Given the description of an element on the screen output the (x, y) to click on. 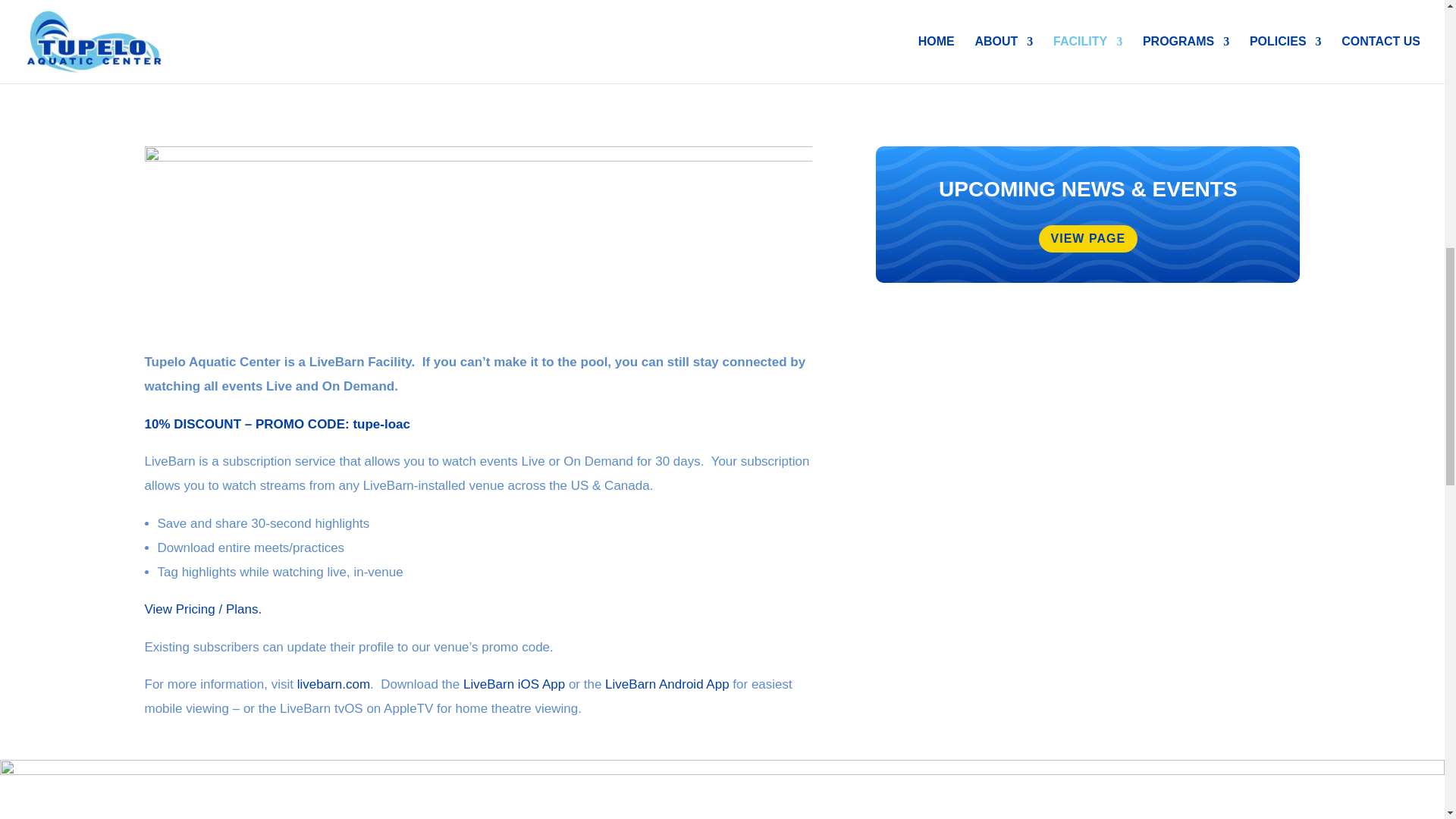
VIEW PAGE (1088, 239)
LiveBarn Android App (667, 684)
Banner 970X250 (478, 232)
livebarn.com (333, 684)
LiveBarn iOS App (513, 684)
LiveBarn Android App (667, 684)
LiveBarn iOS App (513, 684)
Live Barn (333, 684)
